Given the description of an element on the screen output the (x, y) to click on. 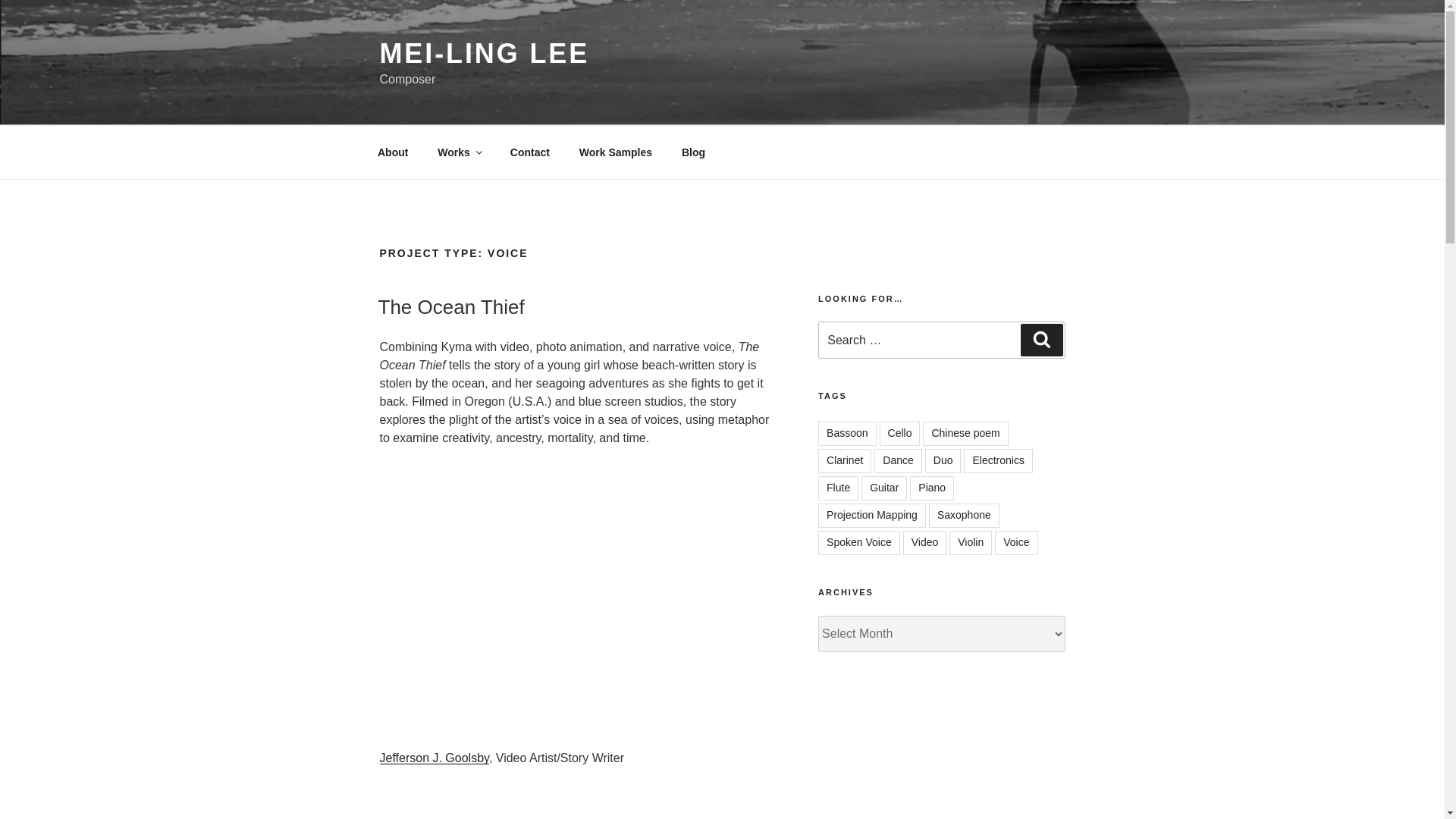
About (392, 151)
Works (460, 151)
Blog (692, 151)
The Ocean Thief (450, 306)
MEI-LING LEE (483, 52)
Work Samples (615, 151)
Contact (529, 151)
Jefferson J. Goolsby (432, 757)
